Given the description of an element on the screen output the (x, y) to click on. 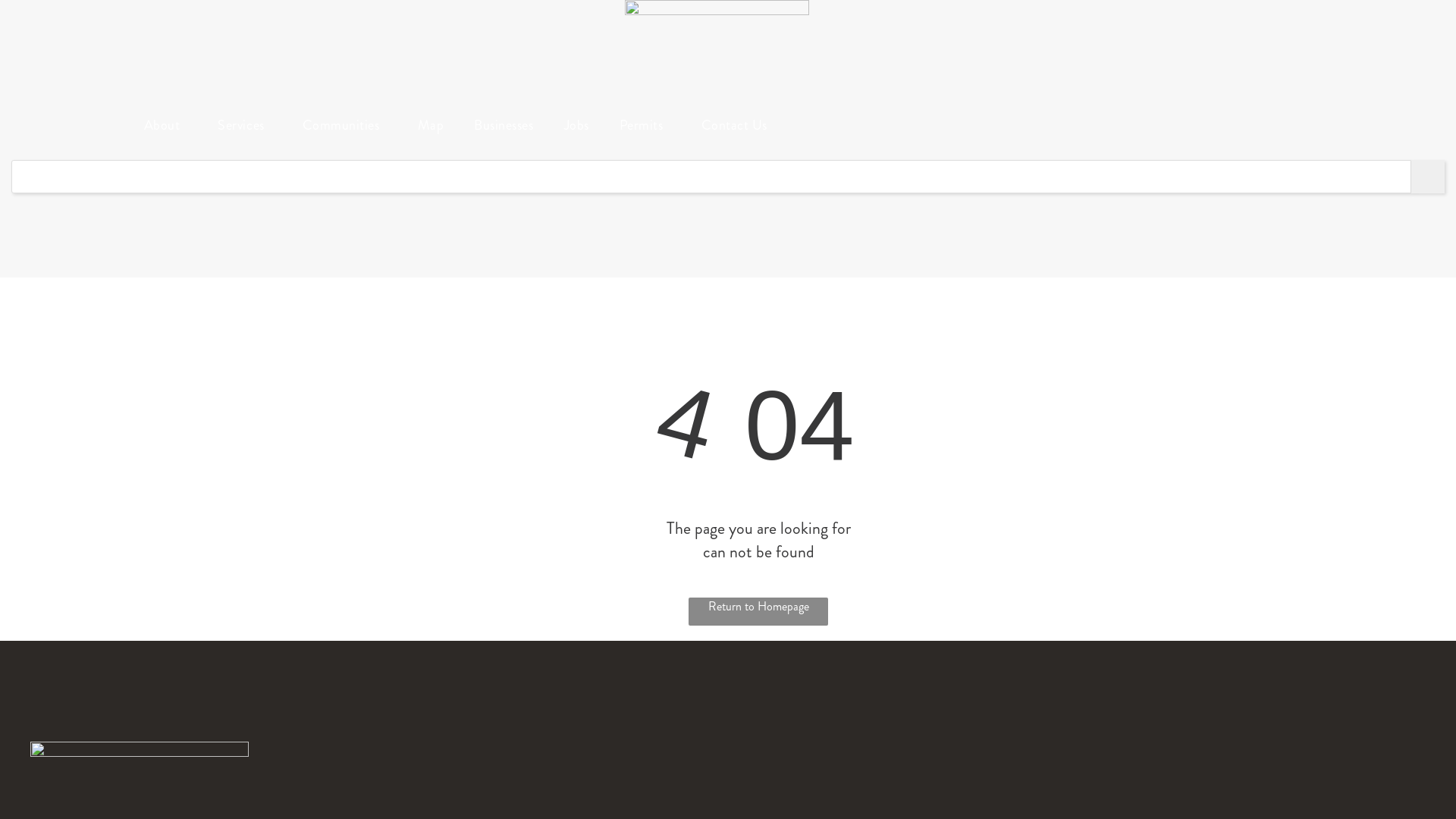
Contact Us Element type: text (734, 124)
Map Element type: text (430, 124)
Return to Homepage Element type: text (758, 611)
Communities Element type: text (344, 124)
Jobs Element type: text (576, 124)
Permits Element type: text (645, 124)
Services Element type: text (244, 124)
About Element type: text (165, 124)
Businesses Element type: text (503, 124)
